Given the description of an element on the screen output the (x, y) to click on. 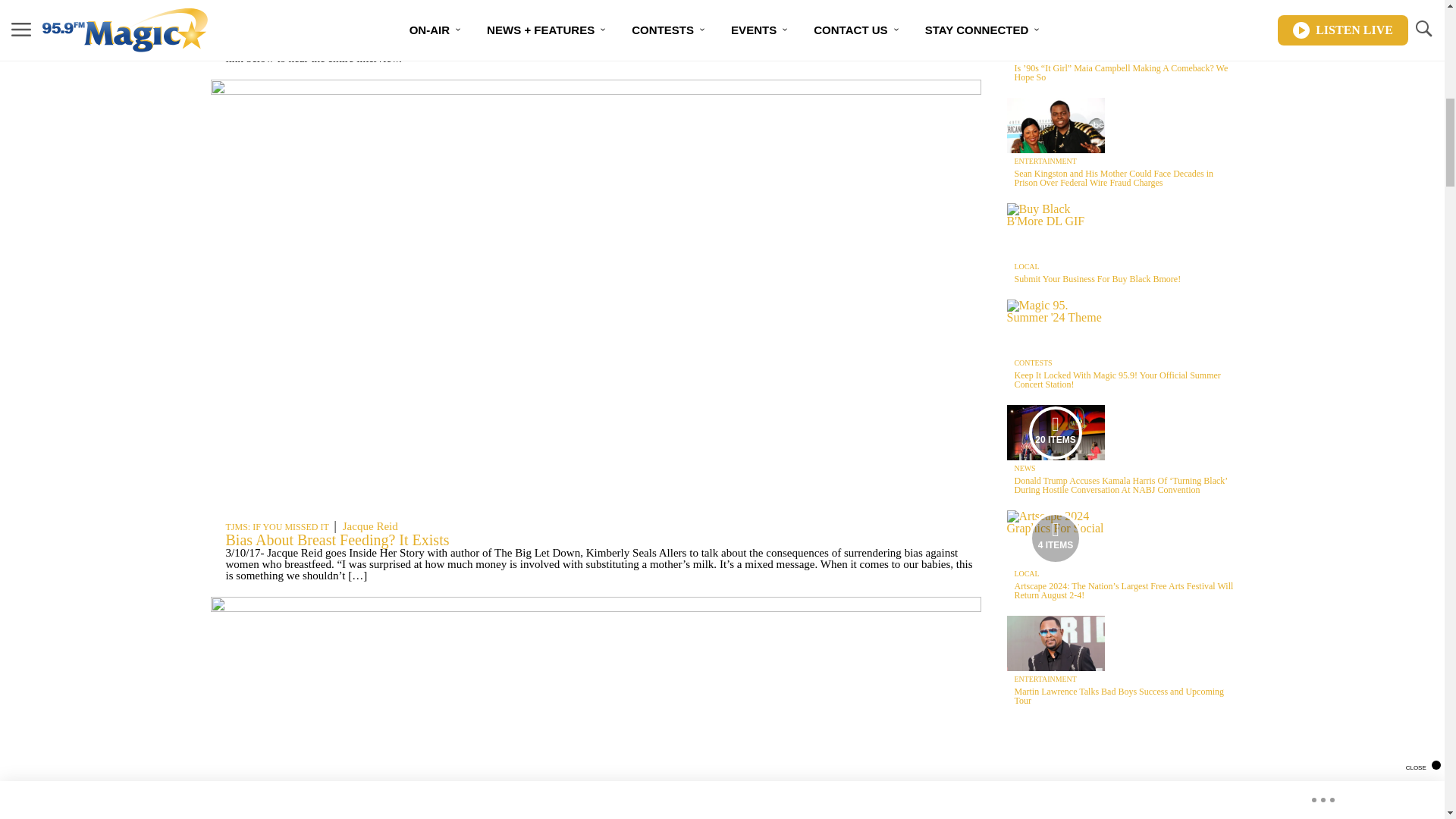
Krystal Franklin, BlackAmericaWeb.com (437, 20)
Media Playlist (1055, 432)
TJMS: IF YOU MISSED IT (277, 20)
Media Playlist (1055, 537)
TJMS: IF YOU MISSED IT (277, 526)
Jacque Reid (369, 526)
